Given the description of an element on the screen output the (x, y) to click on. 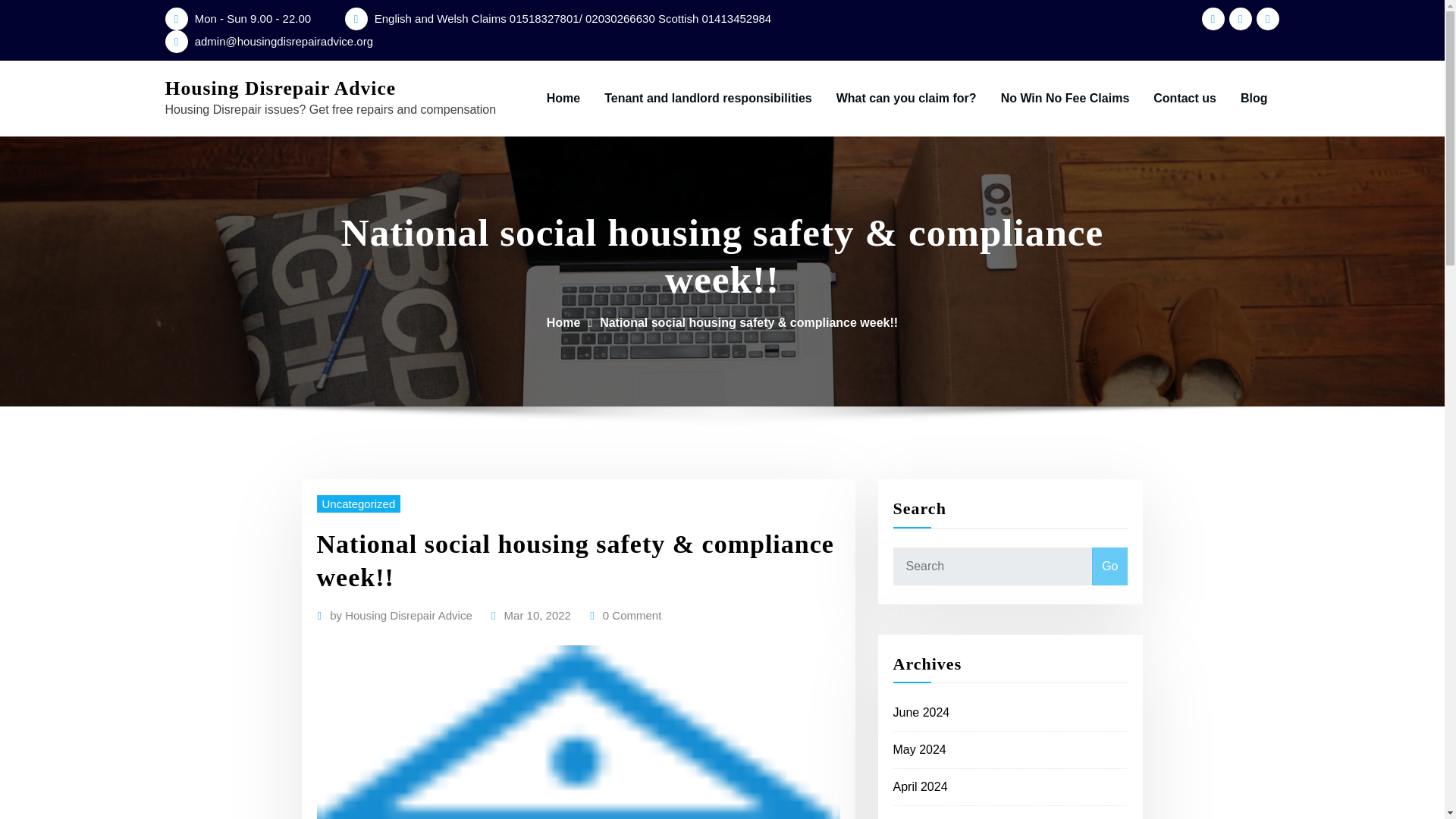
Home (563, 322)
Mar 10, 2022 (536, 615)
Tenant and landlord responsibilities (708, 98)
Housing Disrepair Advice (280, 87)
No Win No Fee Claims (1064, 98)
Mon - Sun 9.00 - 22.00 (253, 18)
0 Comment (632, 615)
What can you claim for? (906, 98)
by Housing Disrepair Advice (400, 615)
Contact us (1184, 98)
